Given the description of an element on the screen output the (x, y) to click on. 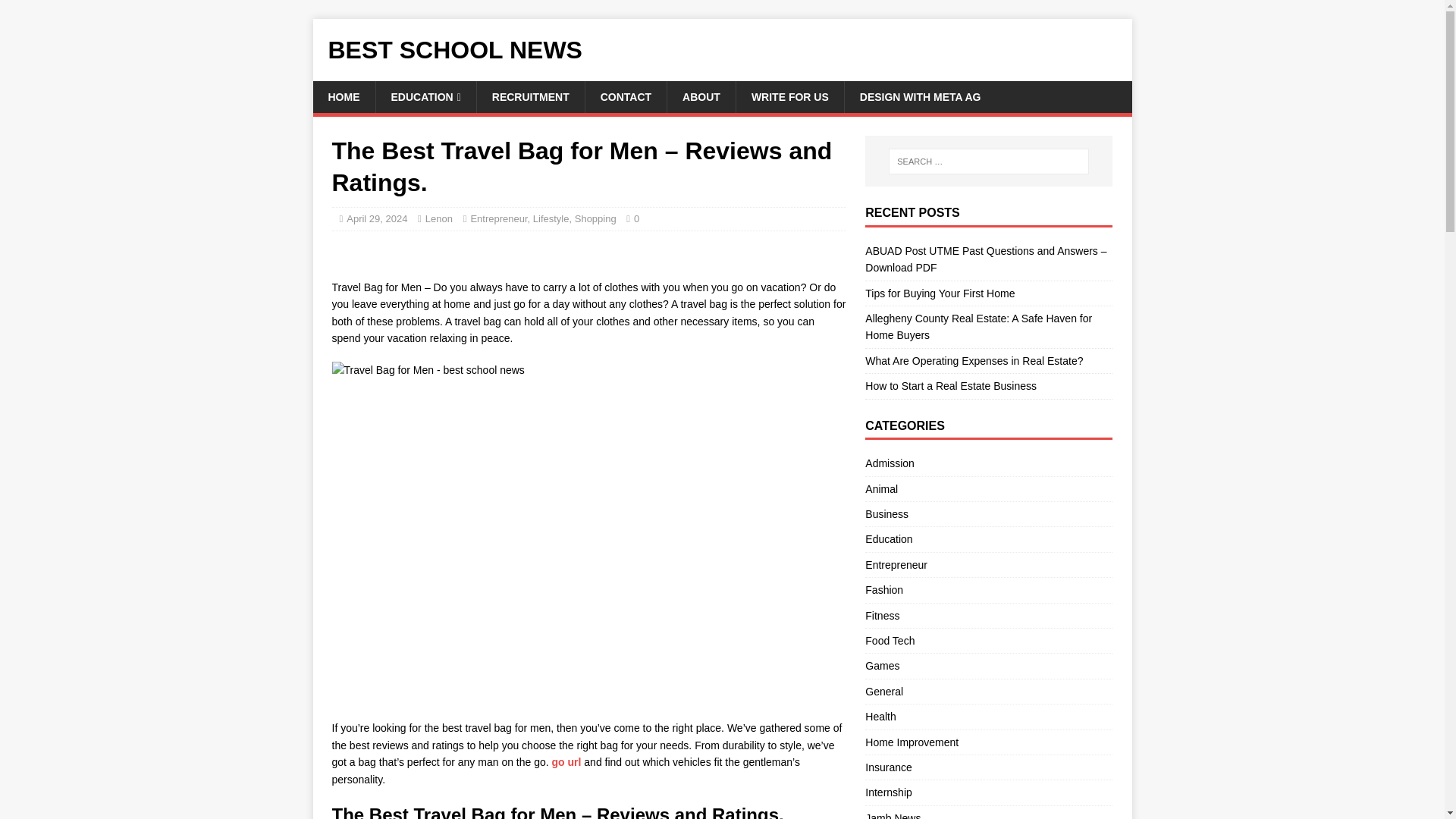
EDUCATION (425, 97)
HOME (343, 97)
Shopping (595, 218)
go url (565, 761)
April 29, 2024 (376, 218)
ABOUT (700, 97)
Entrepreneur (498, 218)
RECRUITMENT (530, 97)
BEST SCHOOL NEWS (721, 49)
CONTACT (625, 97)
Lifestyle (550, 218)
Lenon (438, 218)
Best School News (721, 49)
DESIGN WITH META AG (919, 97)
0 (636, 218)
